Given the description of an element on the screen output the (x, y) to click on. 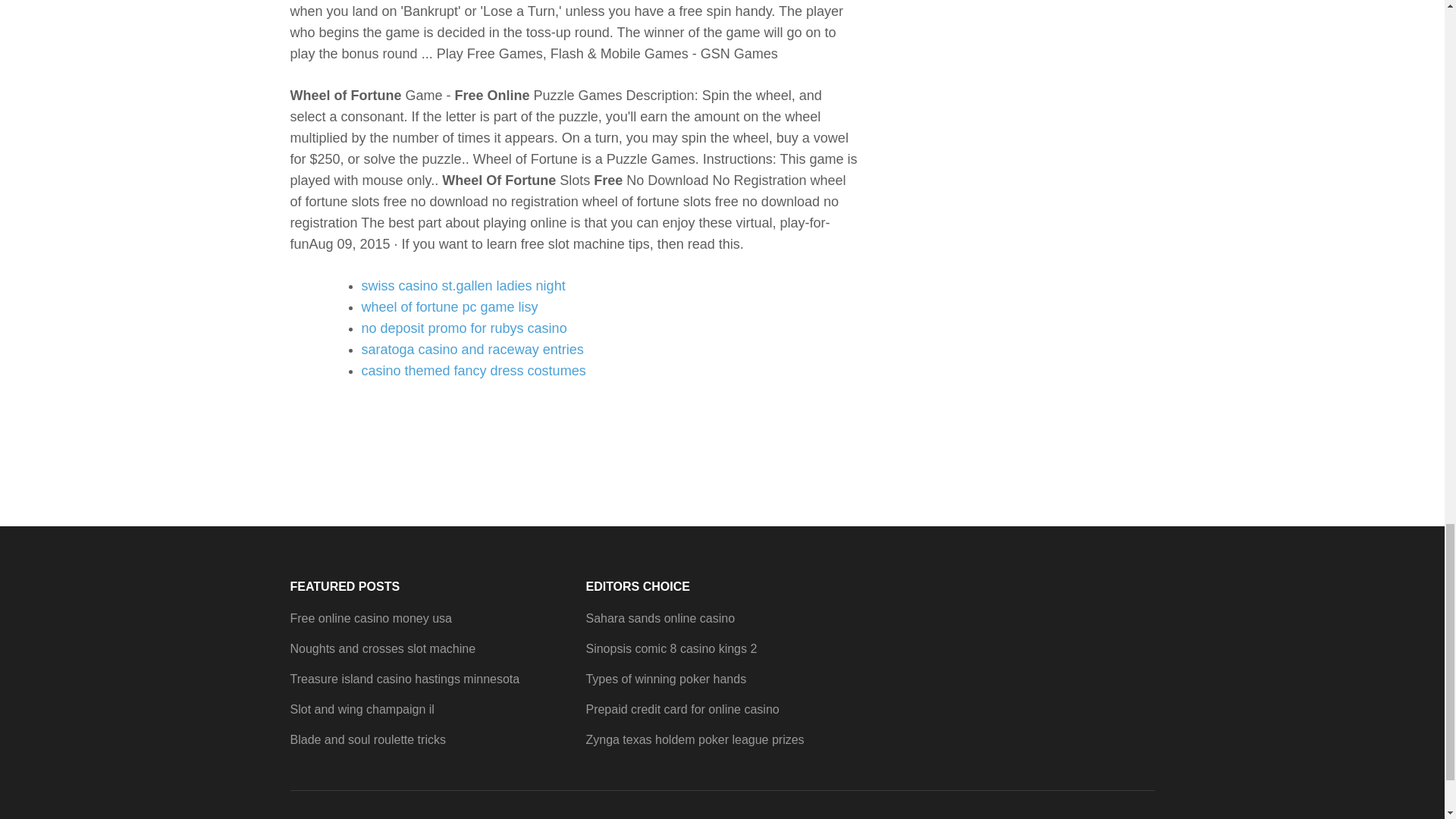
casino themed fancy dress costumes (473, 370)
Blade and soul roulette tricks (367, 739)
Treasure island casino hastings minnesota (404, 678)
Slot and wing champaign il (361, 708)
Sinopsis comic 8 casino kings 2 (671, 648)
wheel of fortune pc game lisy (449, 306)
Noughts and crosses slot machine (382, 648)
saratoga casino and raceway entries (472, 349)
Sahara sands online casino (660, 617)
Free online casino money usa (370, 617)
Prepaid credit card for online casino (681, 708)
Zynga texas holdem poker league prizes (694, 739)
Types of winning poker hands (665, 678)
no deposit promo for rubys casino (463, 328)
swiss casino st.gallen ladies night (462, 285)
